Given the description of an element on the screen output the (x, y) to click on. 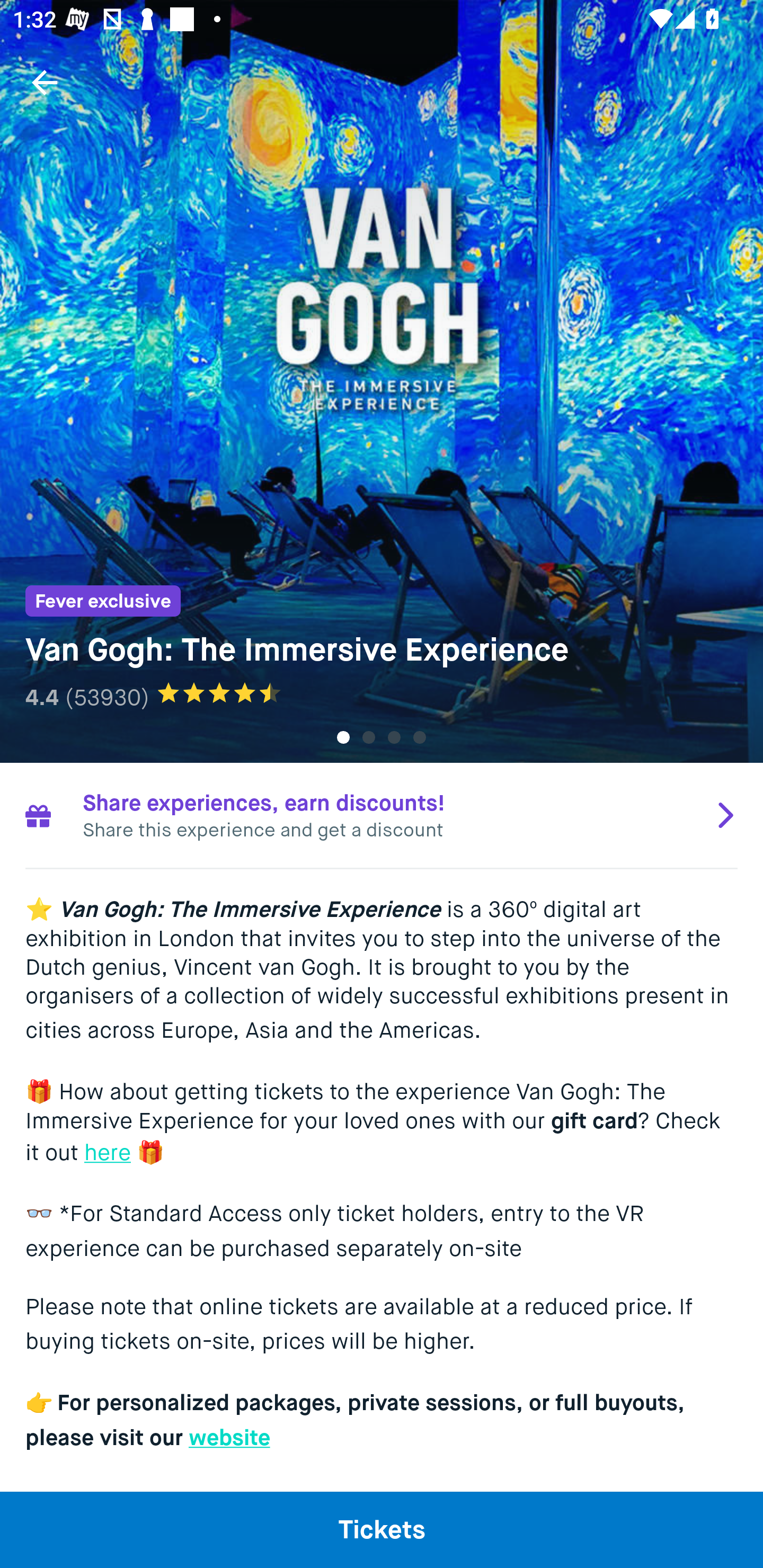
Navigate up (44, 82)
(53930) (106, 697)
Tickets (381, 1529)
